Given the description of an element on the screen output the (x, y) to click on. 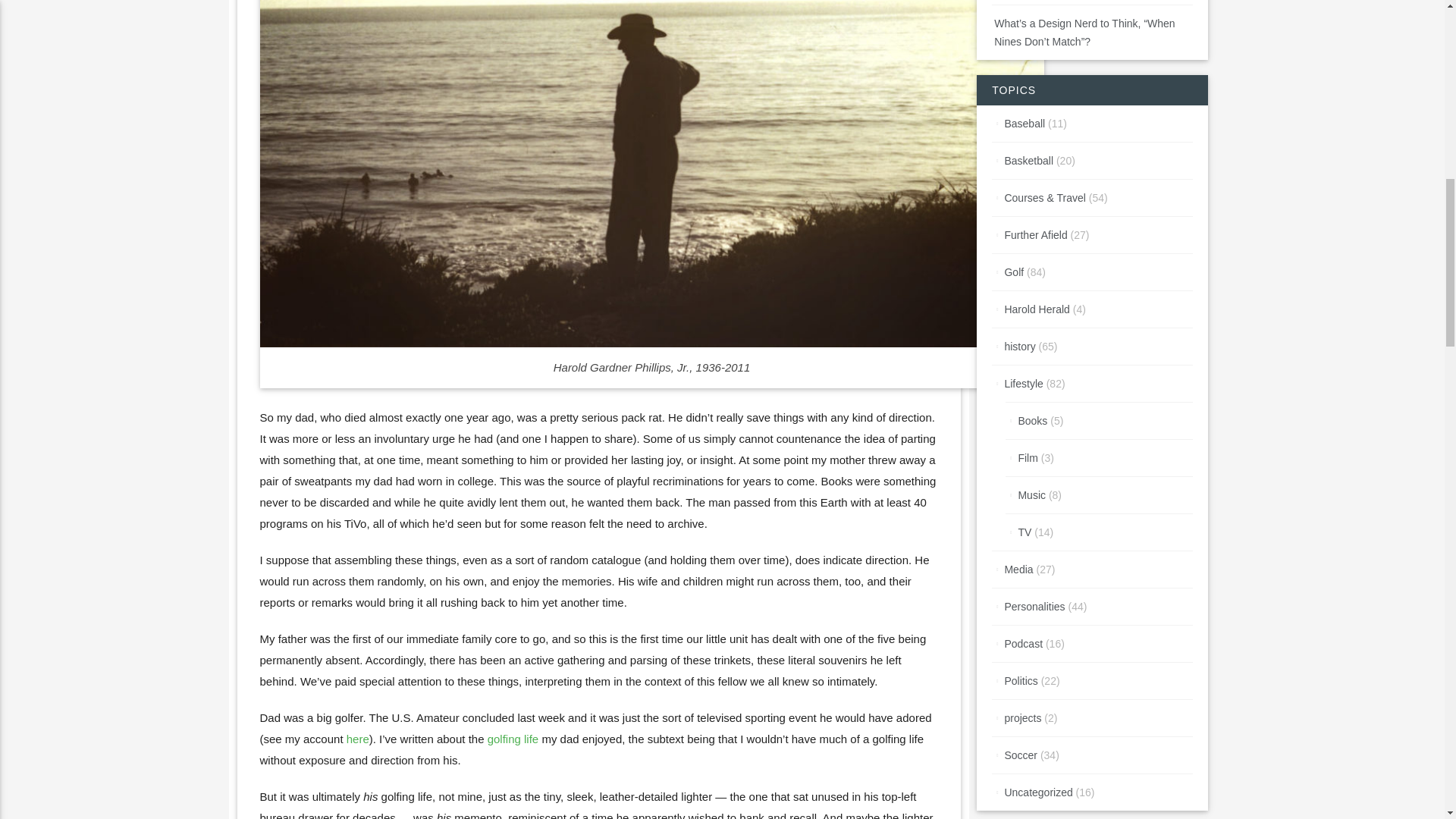
Harold Herald (1036, 309)
Golf (1013, 272)
golfing life (512, 738)
Further Afield (1035, 234)
history (1019, 346)
Books (1031, 420)
Lifestyle (1023, 383)
Basketball (1028, 160)
here (357, 738)
Baseball (1024, 123)
